Given the description of an element on the screen output the (x, y) to click on. 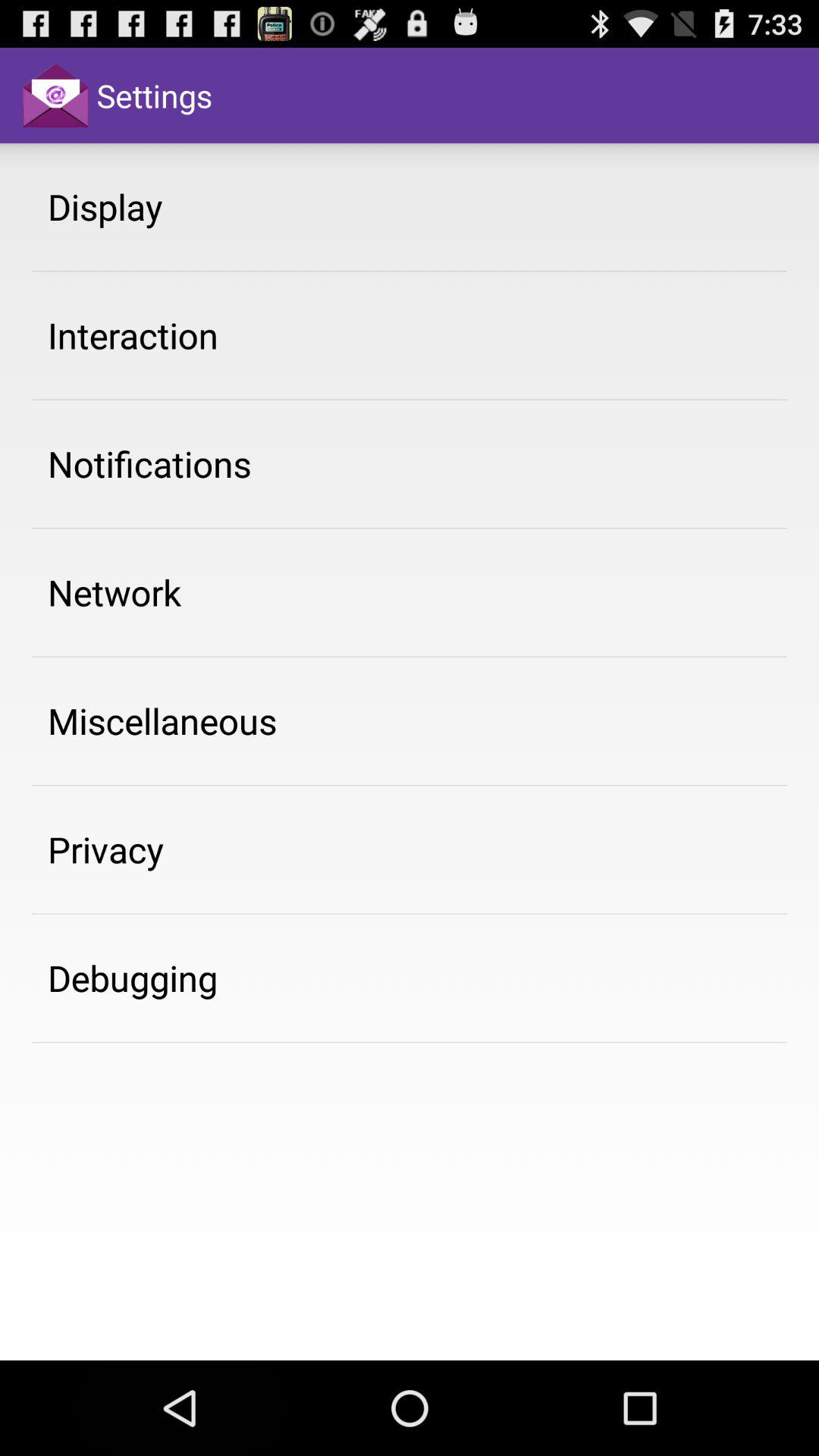
open item above interaction app (104, 206)
